Given the description of an element on the screen output the (x, y) to click on. 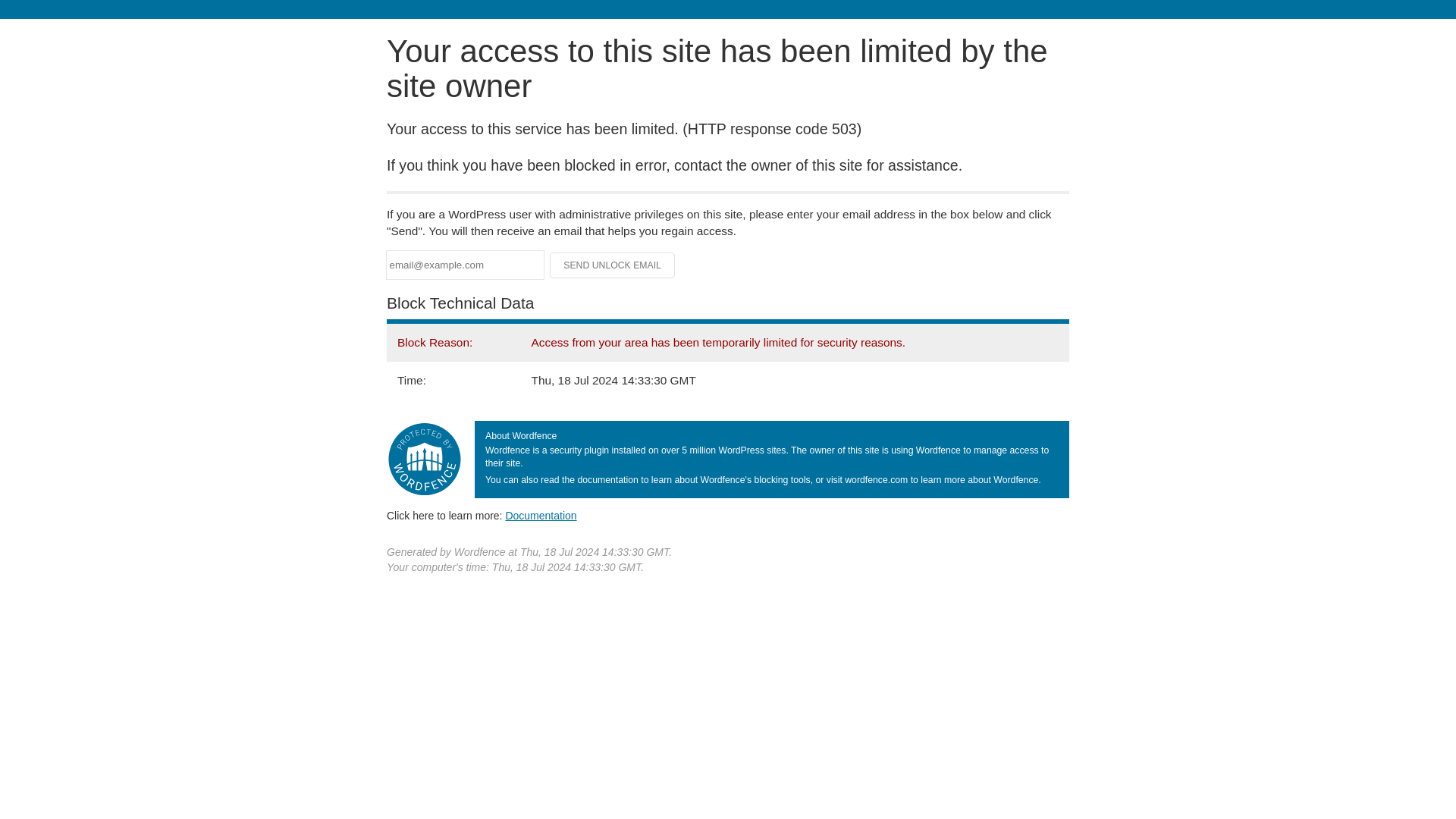
Documentation (540, 515)
Send Unlock Email (612, 265)
Send Unlock Email (612, 265)
